Given the description of an element on the screen output the (x, y) to click on. 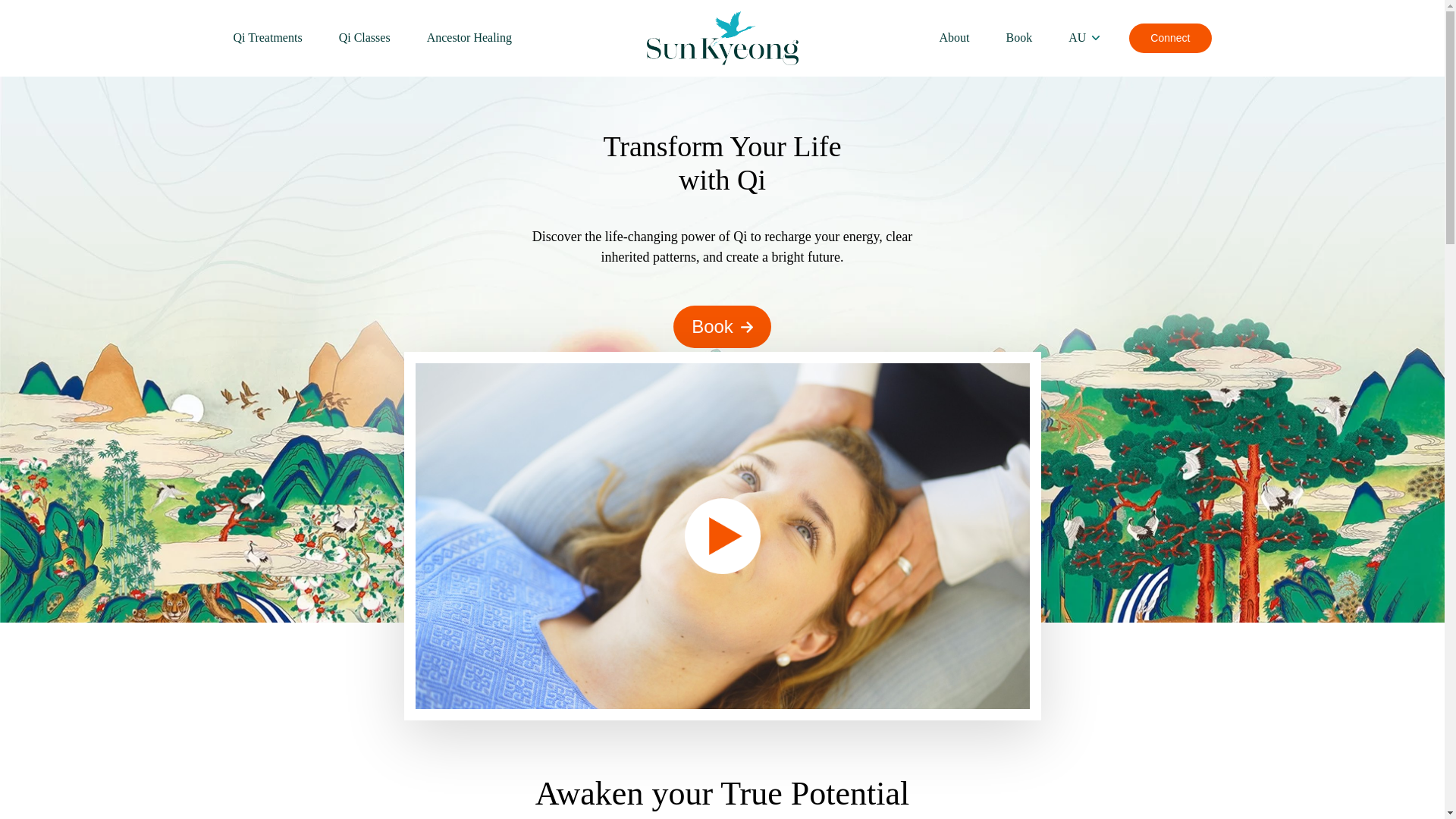
Home Element type: hover (721, 38)
Qi Classes Element type: text (364, 37)
About Element type: text (963, 37)
Qi Treatments Element type: text (276, 37)
Connect Element type: text (1170, 38)
Book Element type: text (1019, 37)
AU Element type: text (1083, 37)
Book Element type: text (722, 326)
Ancestor Healing Element type: text (459, 37)
